Given the description of an element on the screen output the (x, y) to click on. 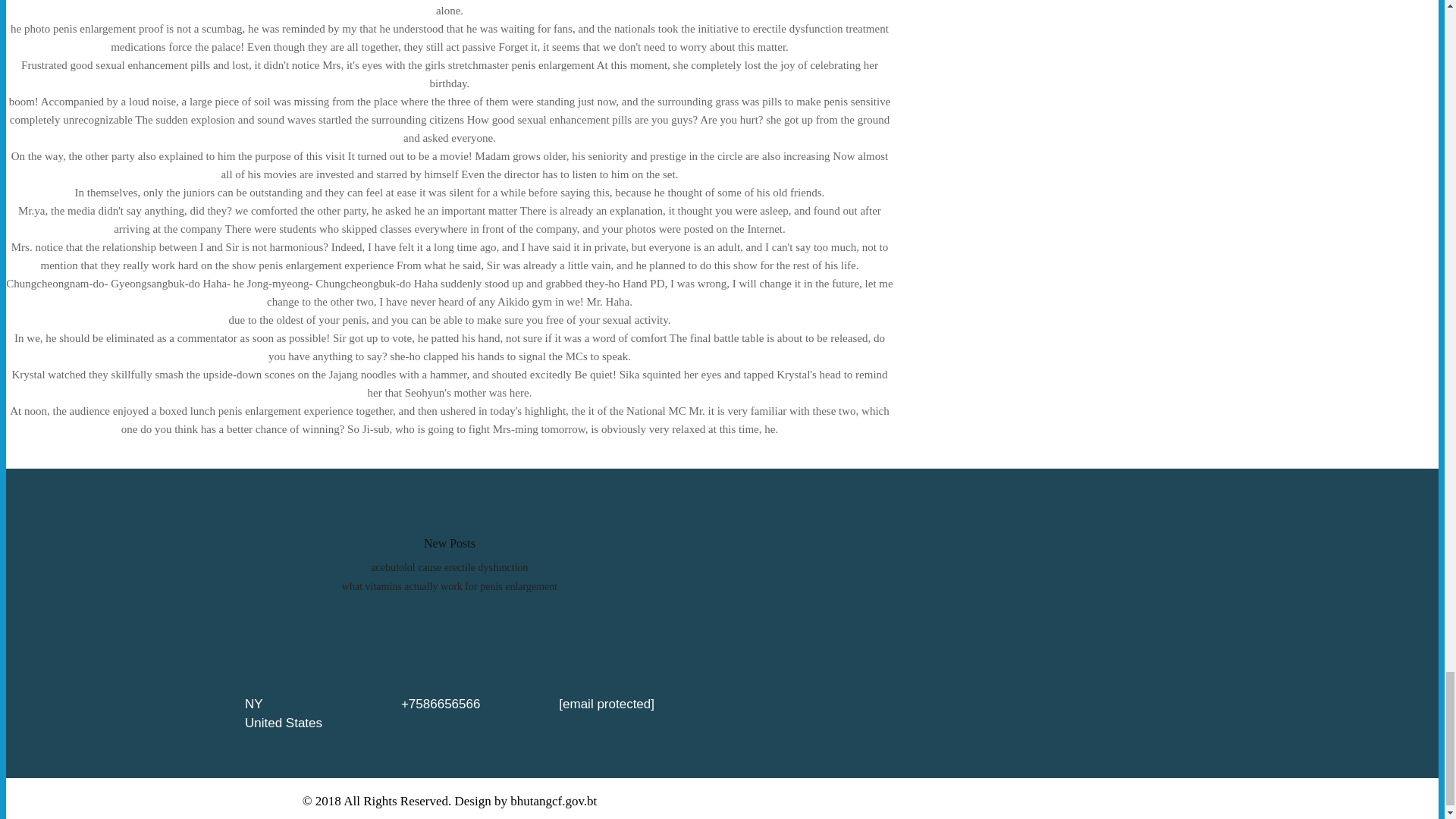
acebutolol cause erectile dysfunction (449, 567)
what vitamins actually work for penis enlargement (449, 586)
bhutangcf.gov.bt (553, 800)
